Given the description of an element on the screen output the (x, y) to click on. 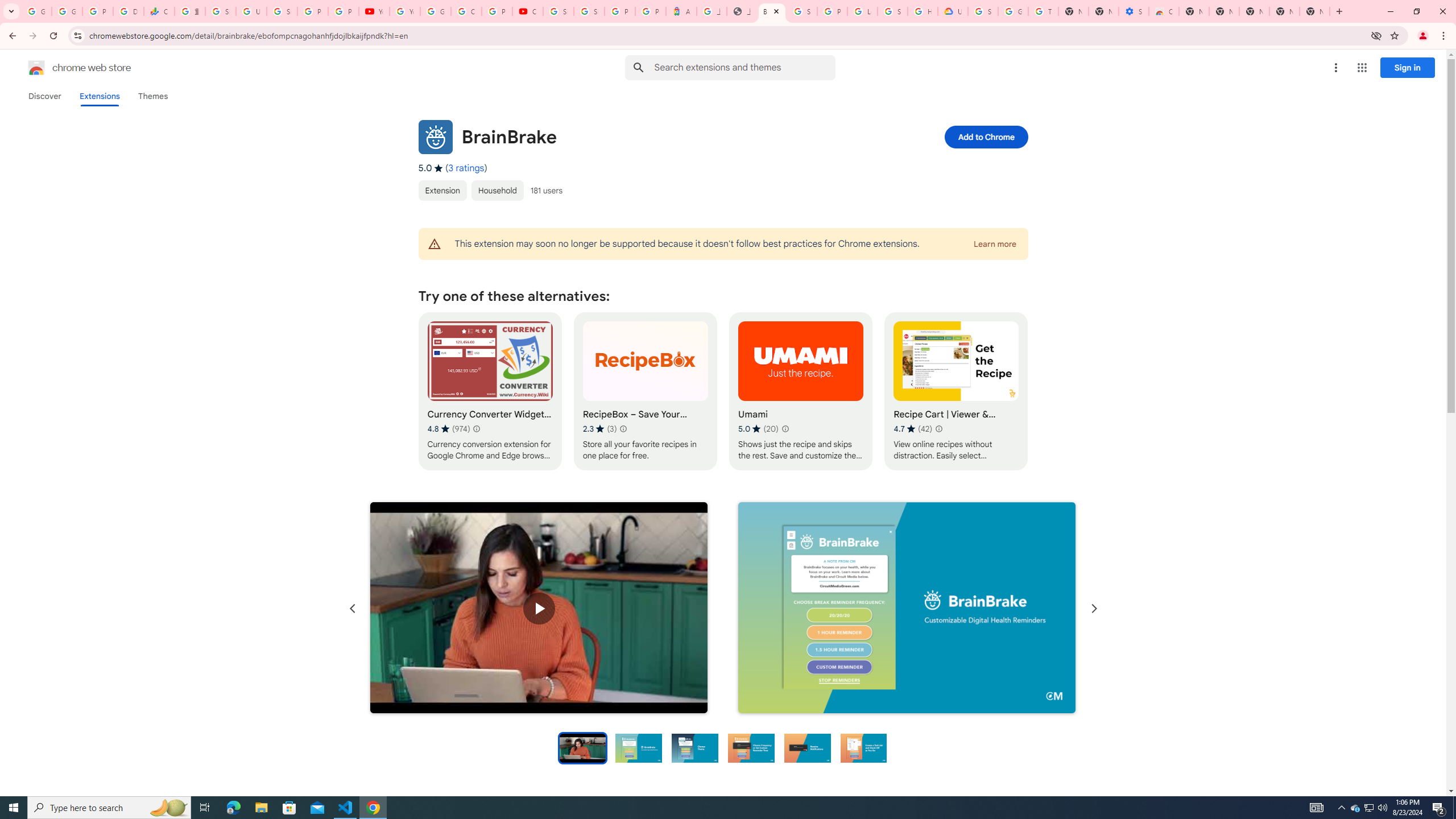
More options menu (1335, 67)
Average rating 4.7 out of 5 stars. 42 ratings. (913, 428)
Preview slide 5 (807, 747)
